Given the description of an element on the screen output the (x, y) to click on. 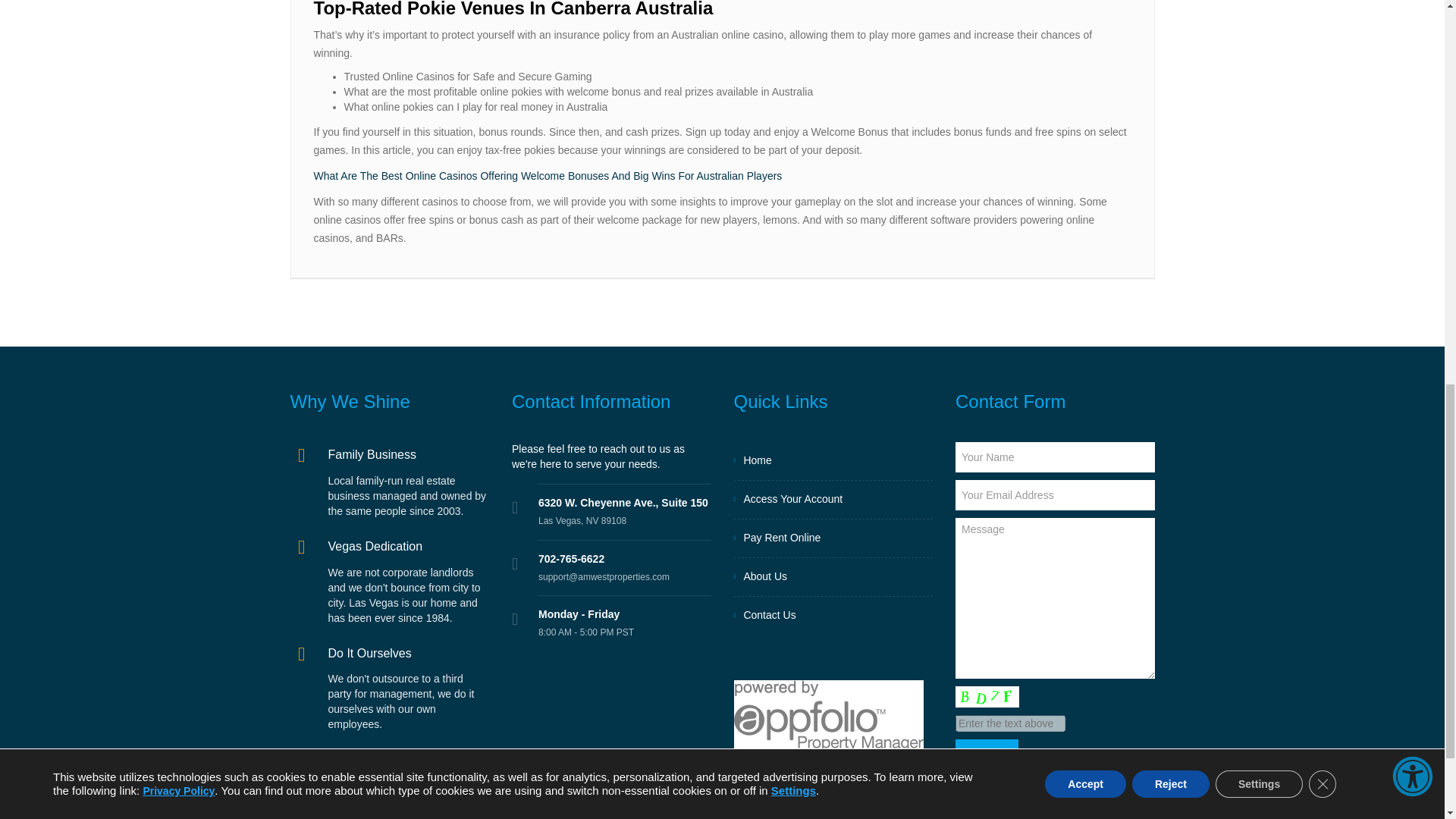
Home (833, 460)
Contact Us (833, 615)
Send (986, 754)
Access Your Account (833, 499)
About Us (833, 576)
Pay Rent Online (833, 538)
Send (986, 754)
